Given the description of an element on the screen output the (x, y) to click on. 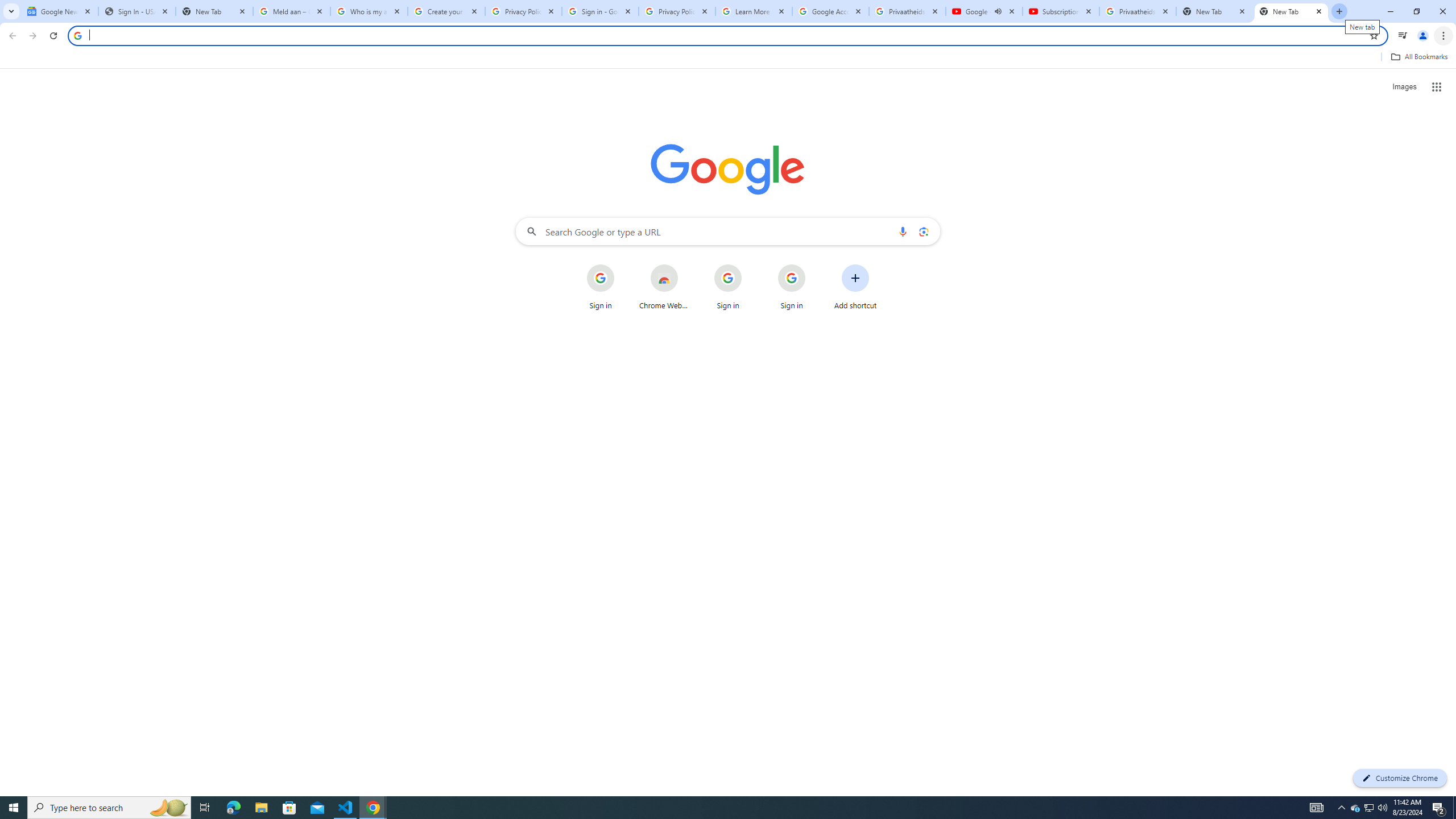
Create your Google Account (446, 11)
Sign in - Google Accounts (599, 11)
More actions for Chrome Web Store shortcut (686, 265)
Chrome Web Store (663, 287)
